Given the description of an element on the screen output the (x, y) to click on. 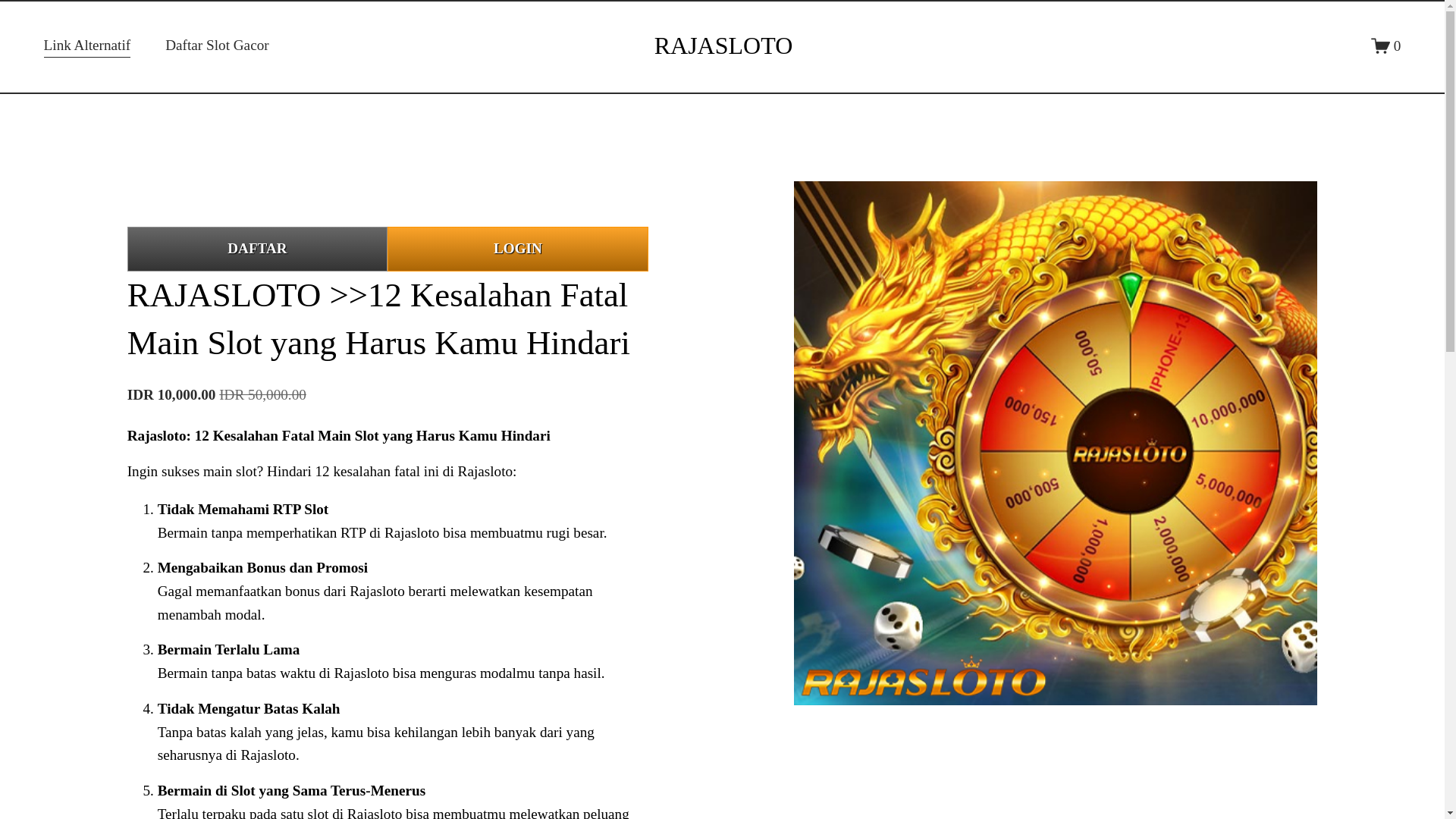
RAJASLOTO (723, 44)
DAFTAR (257, 248)
LOGIN (517, 248)
Link Alternatif (87, 46)
0 (1385, 45)
Daftar Slot Gacor (216, 46)
